Given the description of an element on the screen output the (x, y) to click on. 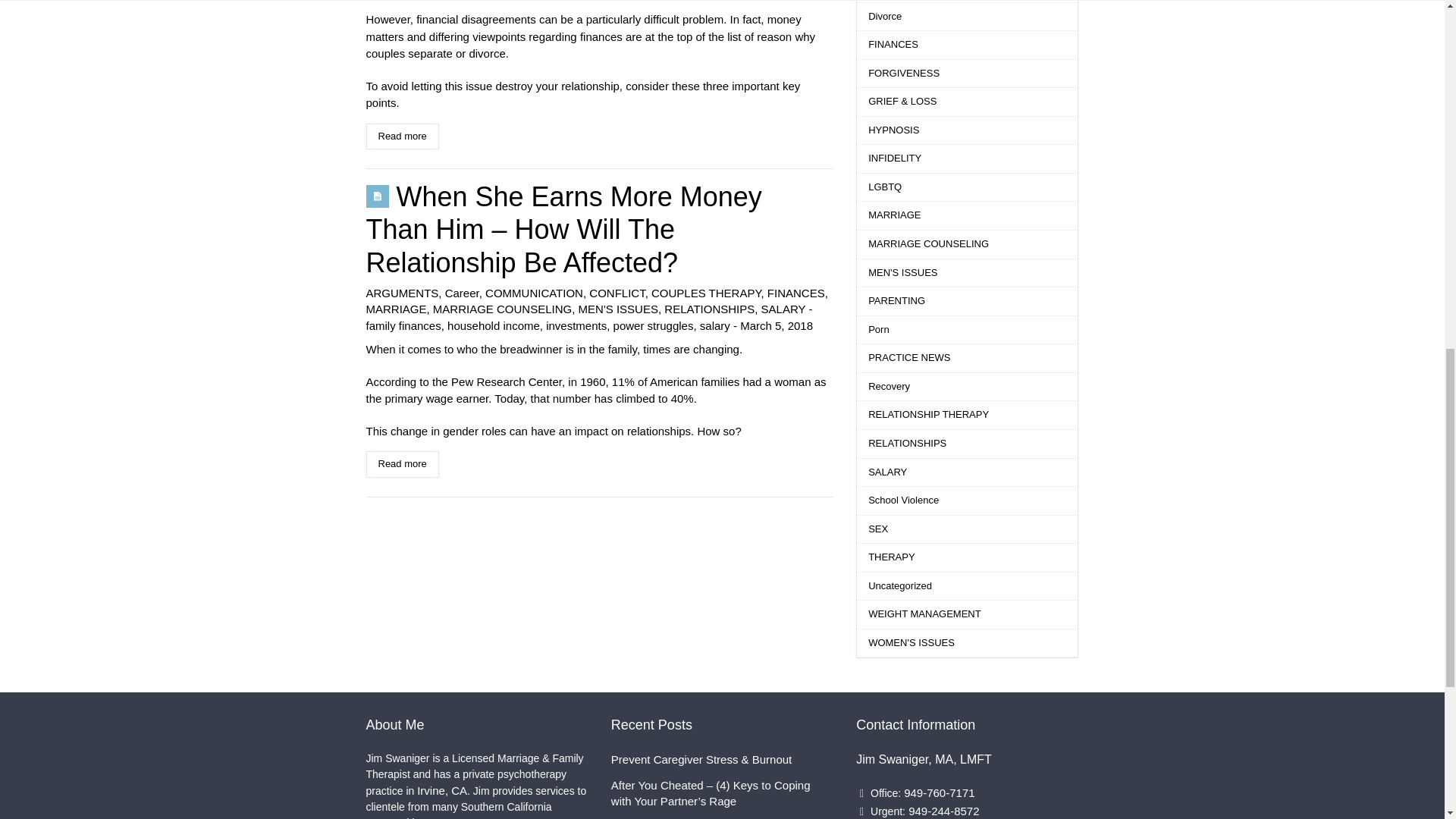
8:44 PM (775, 325)
